Given the description of an element on the screen output the (x, y) to click on. 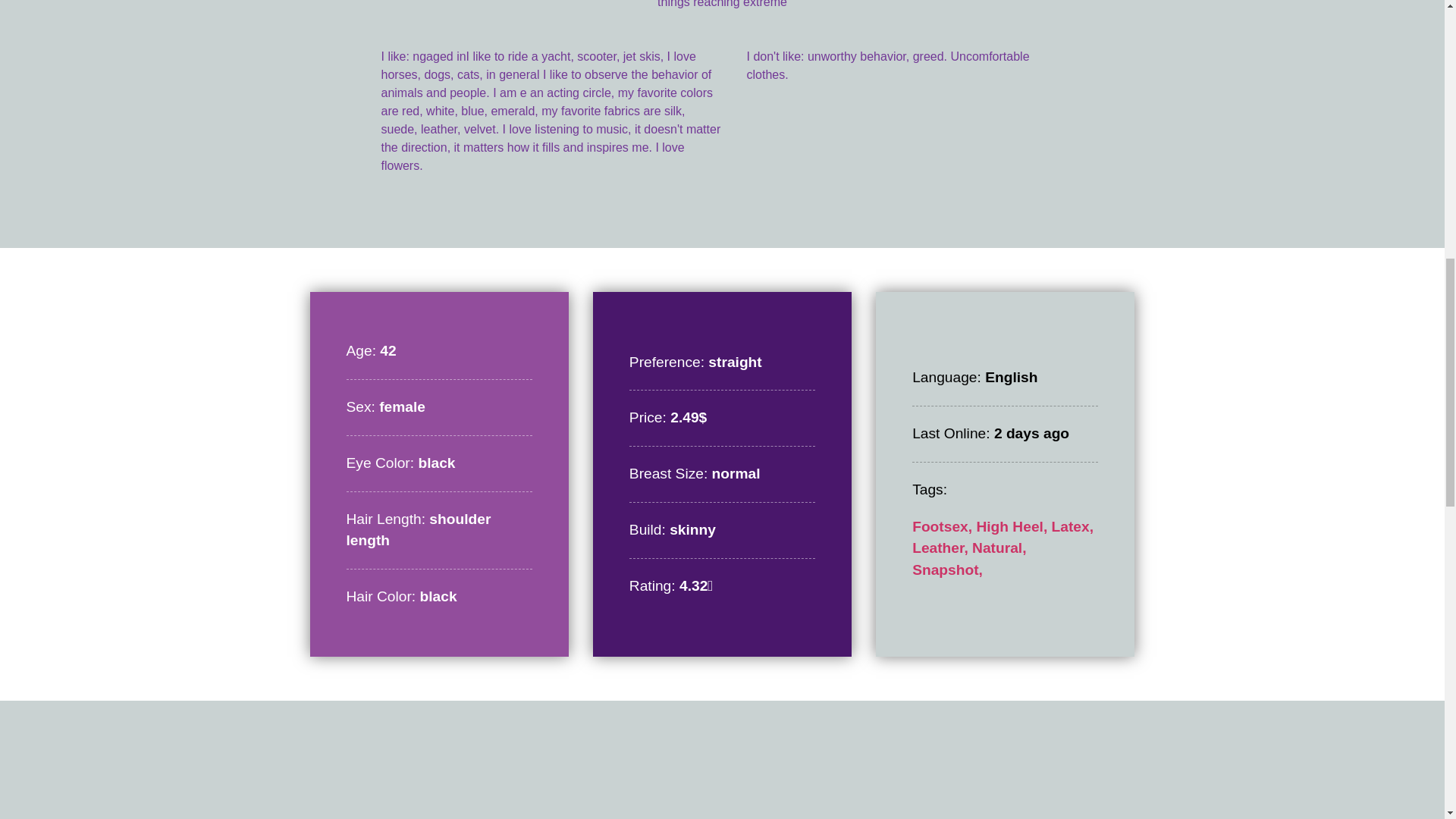
Latex (1072, 526)
High Heel (1013, 526)
Footsex (943, 526)
